Given the description of an element on the screen output the (x, y) to click on. 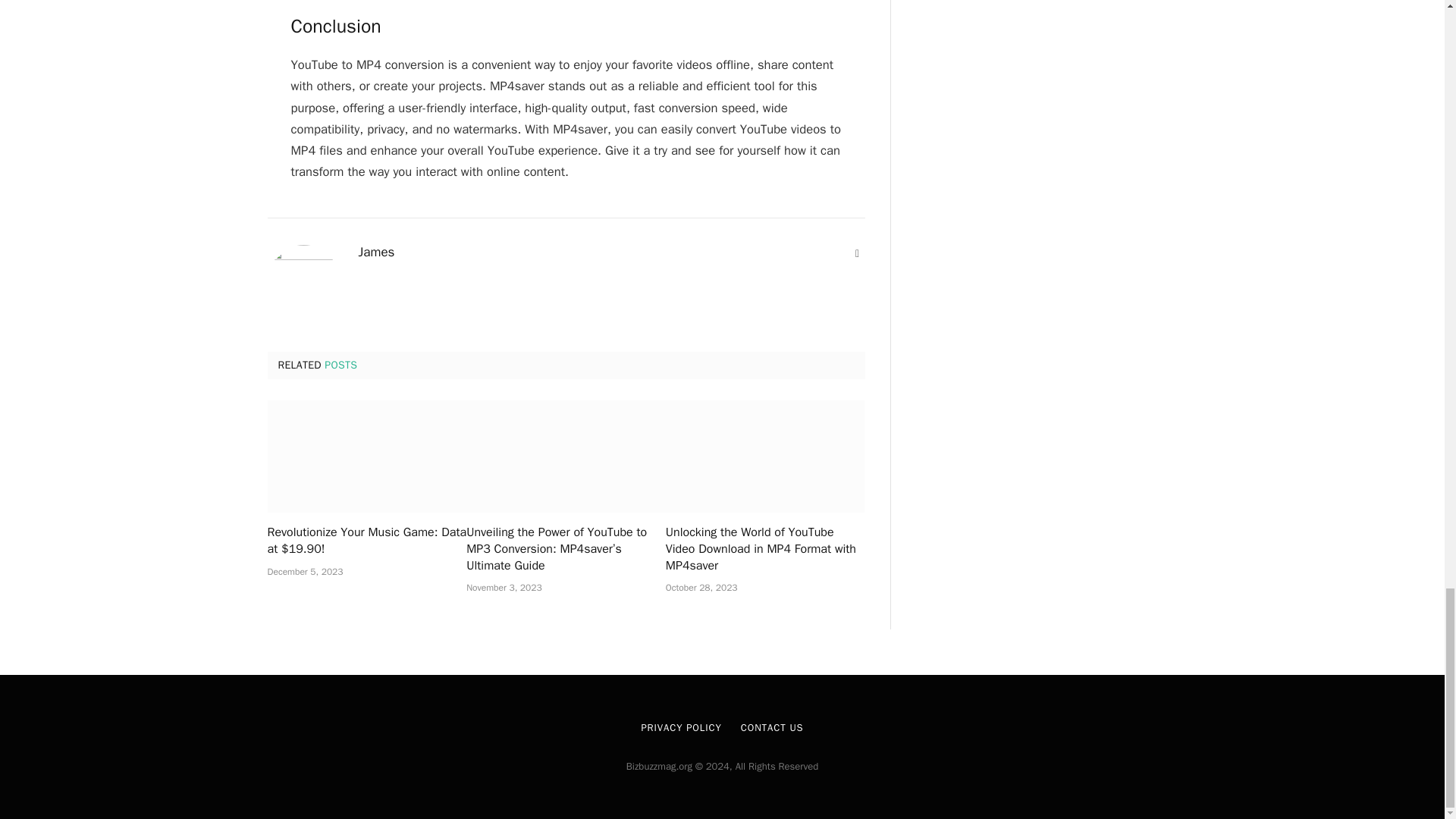
James (376, 252)
Website (856, 253)
Website (856, 253)
Posts by James (376, 252)
